Given the description of an element on the screen output the (x, y) to click on. 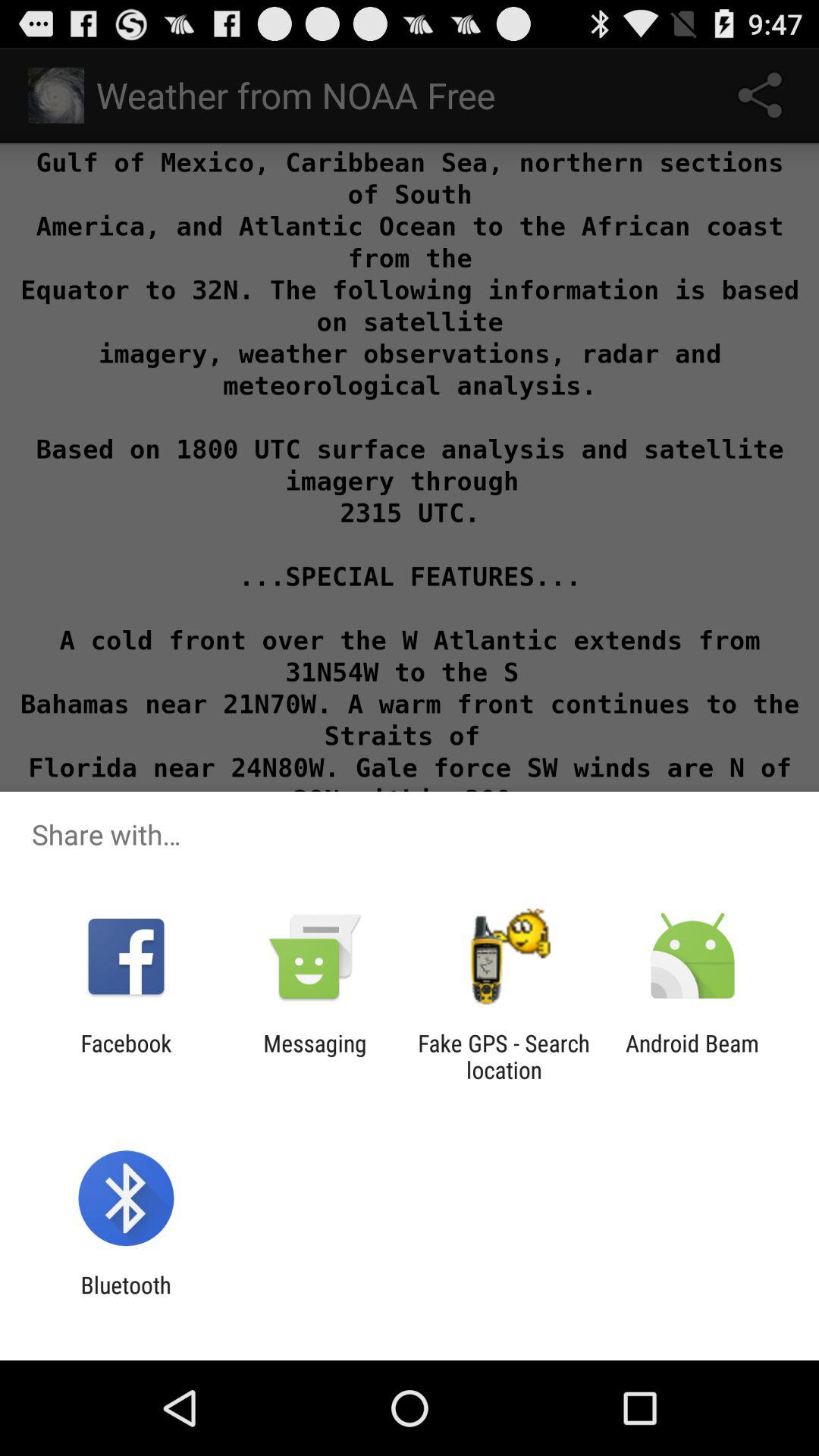
turn off the item next to the facebook icon (314, 1056)
